Given the description of an element on the screen output the (x, y) to click on. 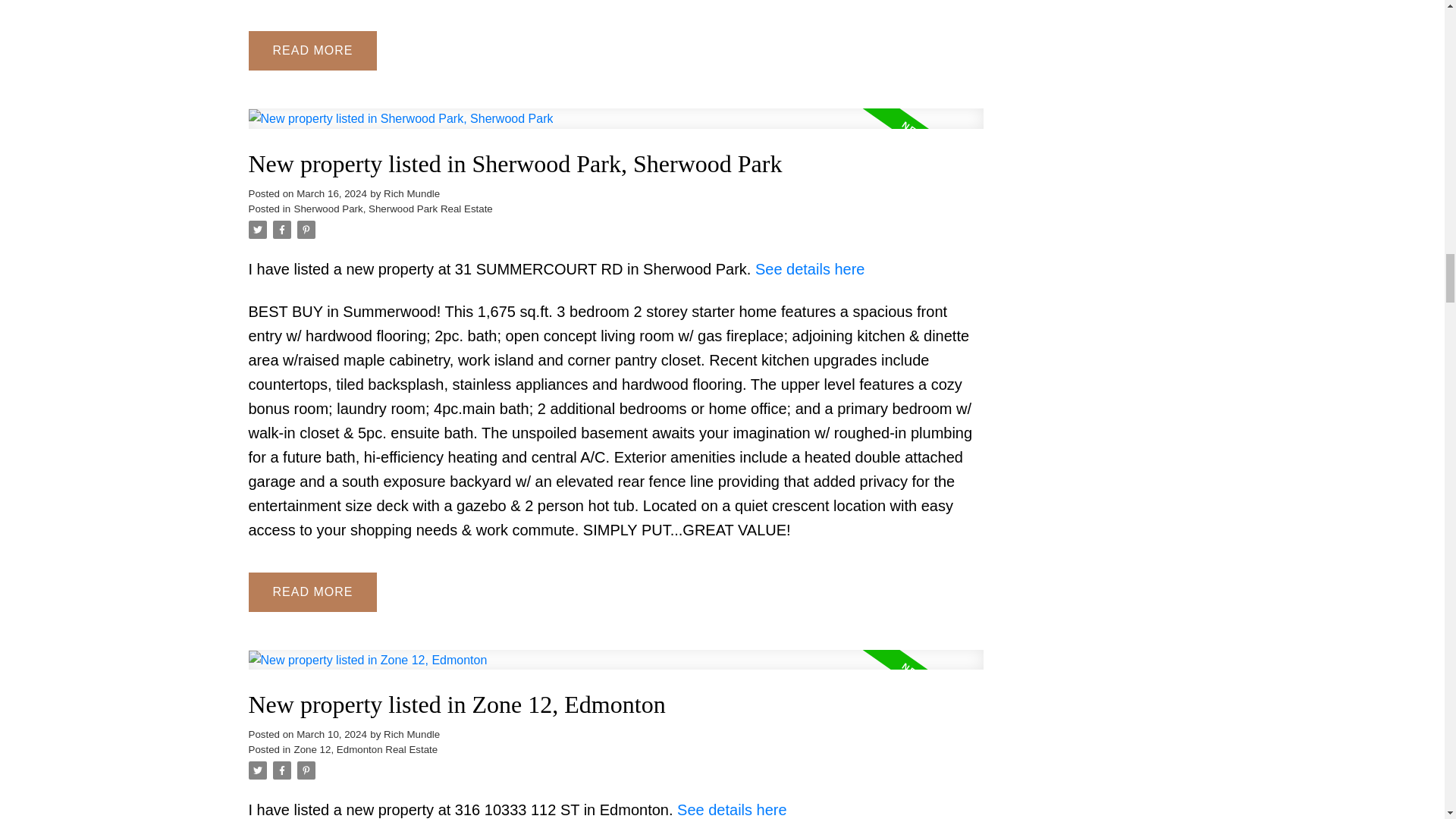
Read full post (616, 669)
Read full post (616, 127)
